Given the description of an element on the screen output the (x, y) to click on. 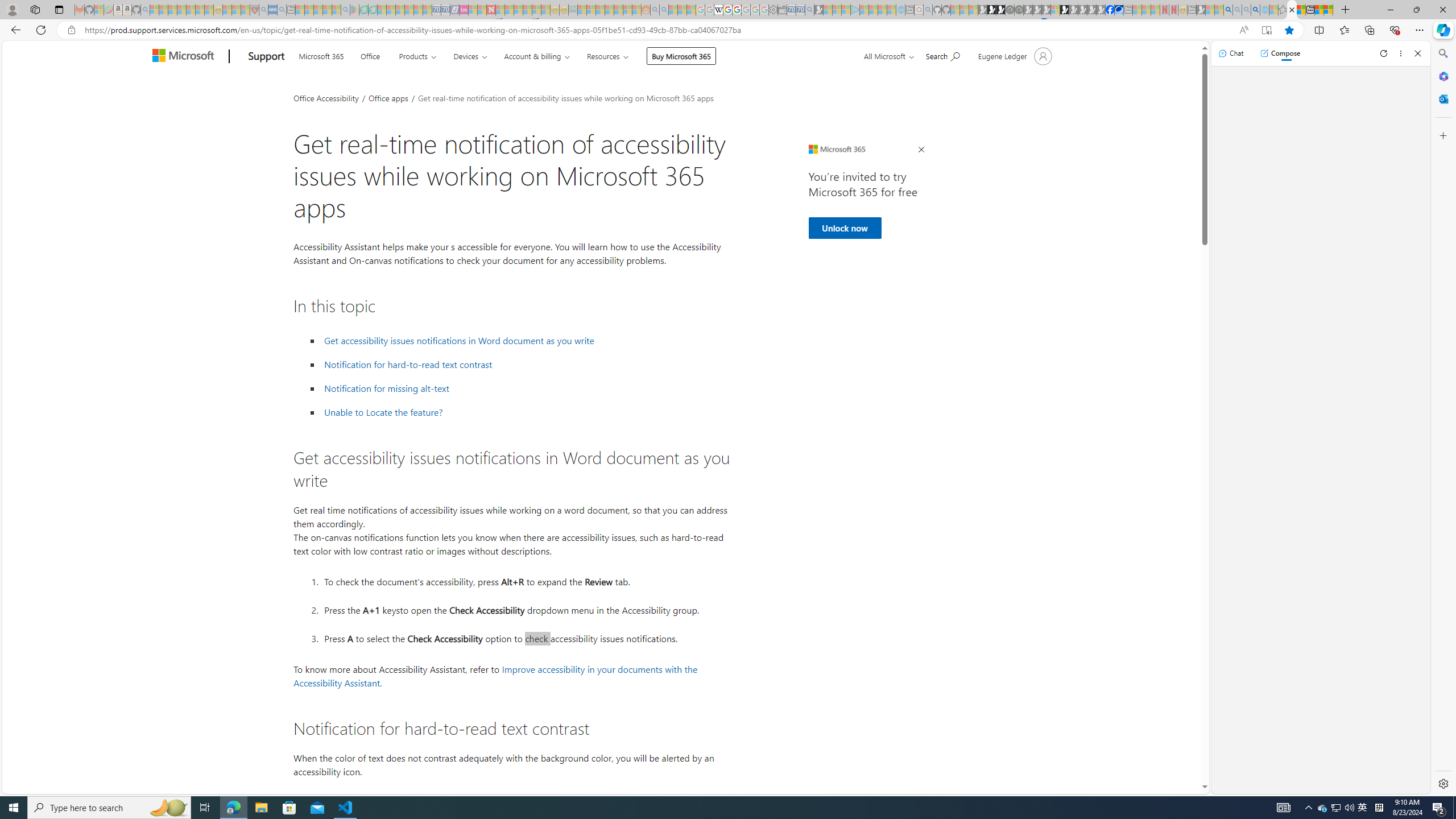
Aberdeen, Hong Kong SAR weather forecast | Microsoft Weather (1300, 9)
